Given the description of an element on the screen output the (x, y) to click on. 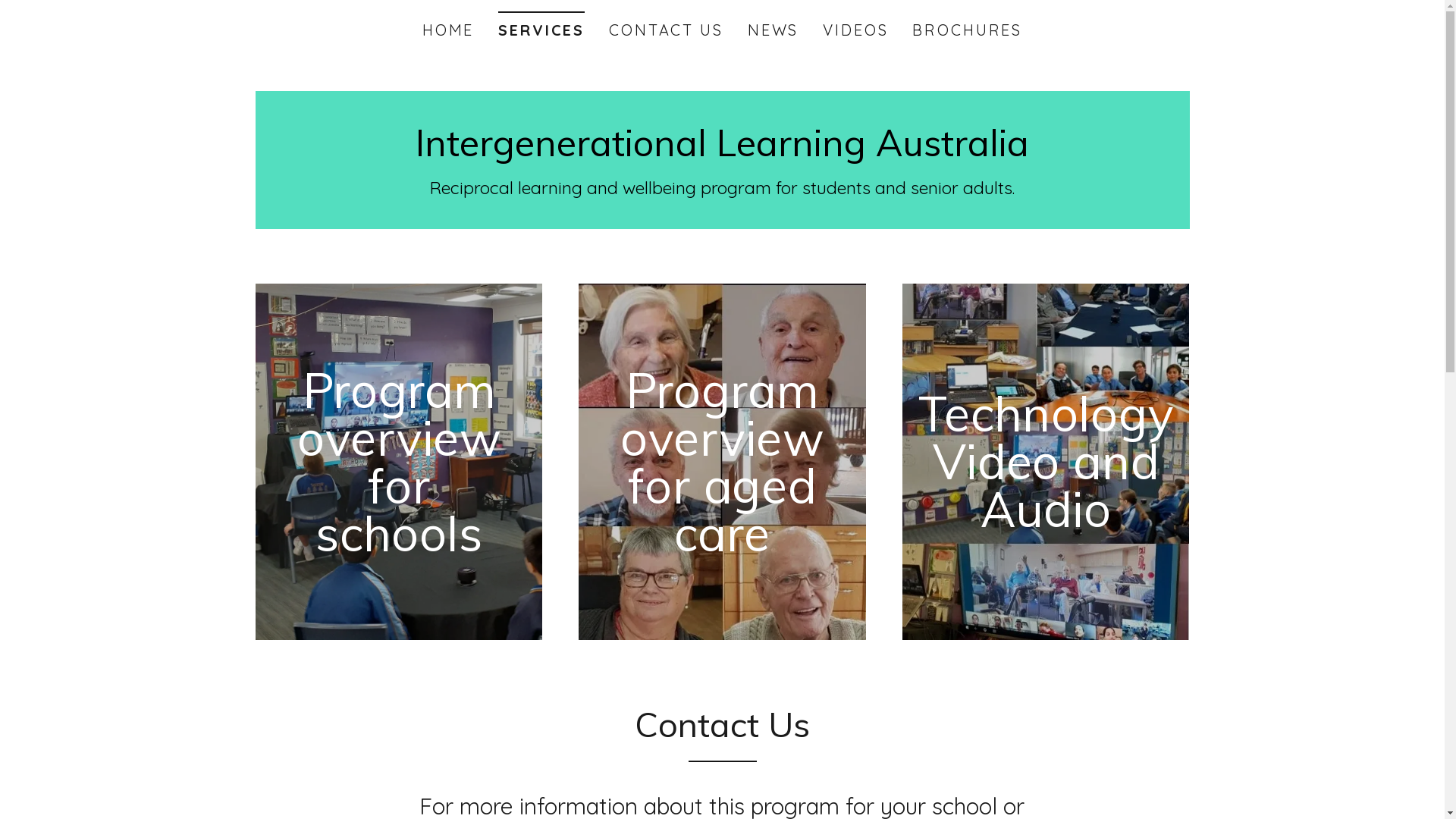
Intergenerational Learning Australia Element type: text (722, 149)
BROCHURES Element type: text (966, 29)
VIDEOS Element type: text (855, 29)
SERVICES Element type: text (541, 25)
NEWS Element type: text (773, 29)
CONTACT US Element type: text (666, 29)
HOME Element type: text (447, 29)
